Given the description of an element on the screen output the (x, y) to click on. 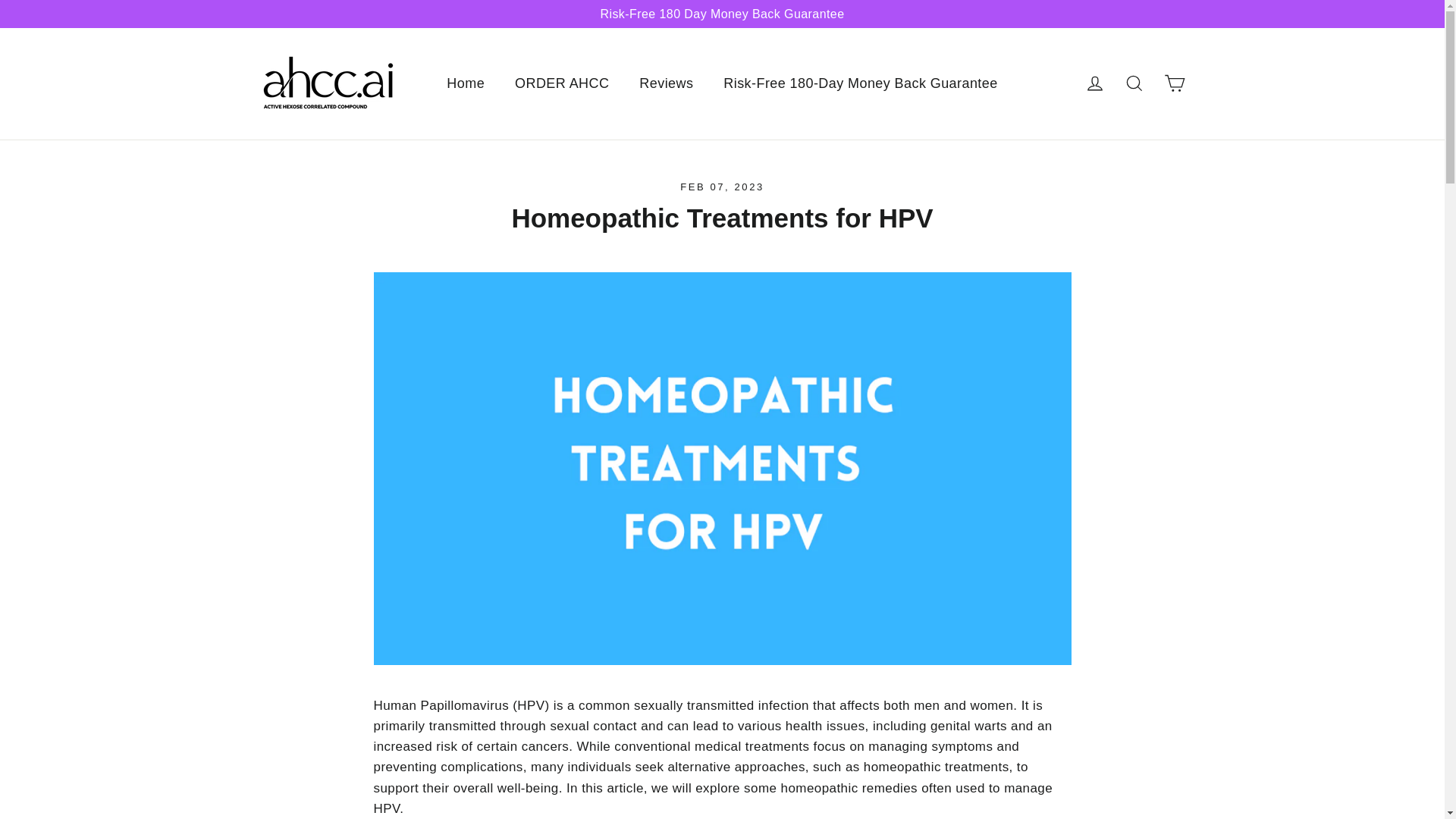
account (1134, 83)
ORDER AHCC (1173, 83)
Reviews (1094, 83)
icon-search (1095, 83)
Risk-Free 180-Day Money Back Guarantee (561, 83)
Home (665, 83)
icon-cart (1134, 83)
